Given the description of an element on the screen output the (x, y) to click on. 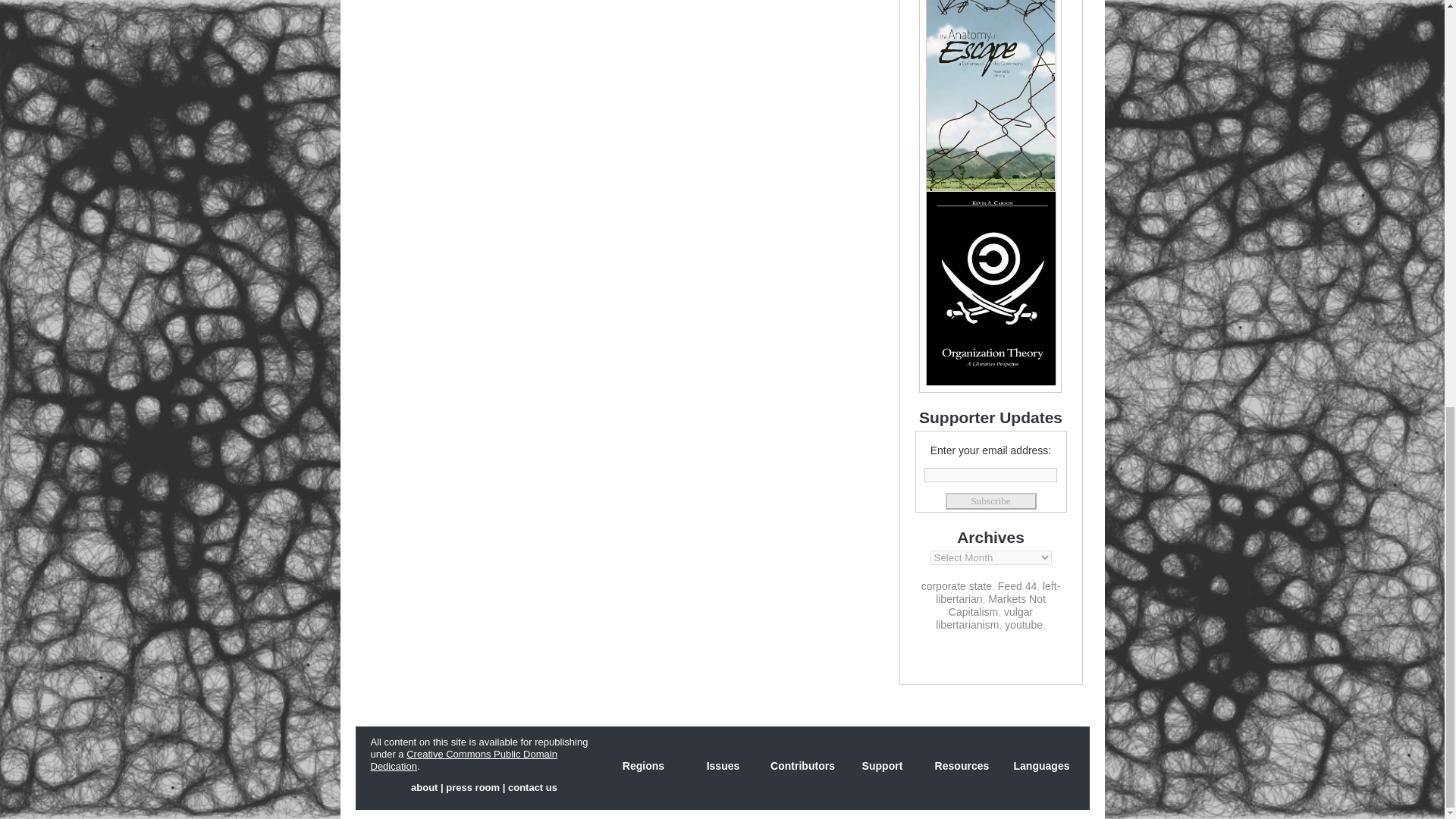
Creative Commons Public Domain Dedication (462, 760)
Issues (722, 766)
Languages (1041, 766)
contact us (532, 787)
about (424, 787)
youtube (1023, 624)
Subscribe (989, 501)
vulgar libertarianism (984, 618)
Contributors (802, 766)
Support (881, 766)
Resources (961, 766)
Subscribe (989, 501)
Markets Not Capitalism (997, 605)
press room (472, 787)
left-libertarian (997, 592)
